Given the description of an element on the screen output the (x, y) to click on. 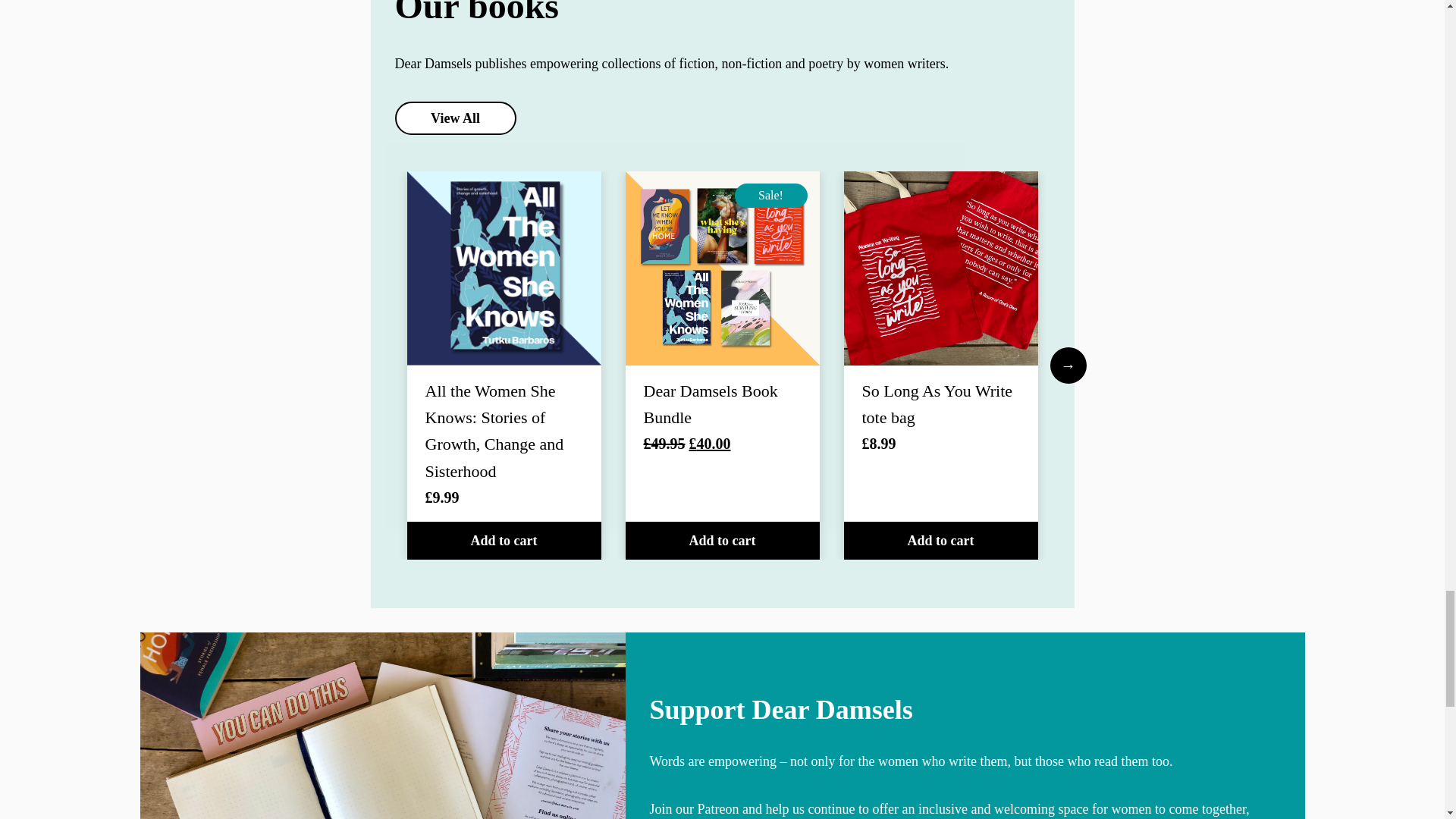
View All (454, 118)
